Given the description of an element on the screen output the (x, y) to click on. 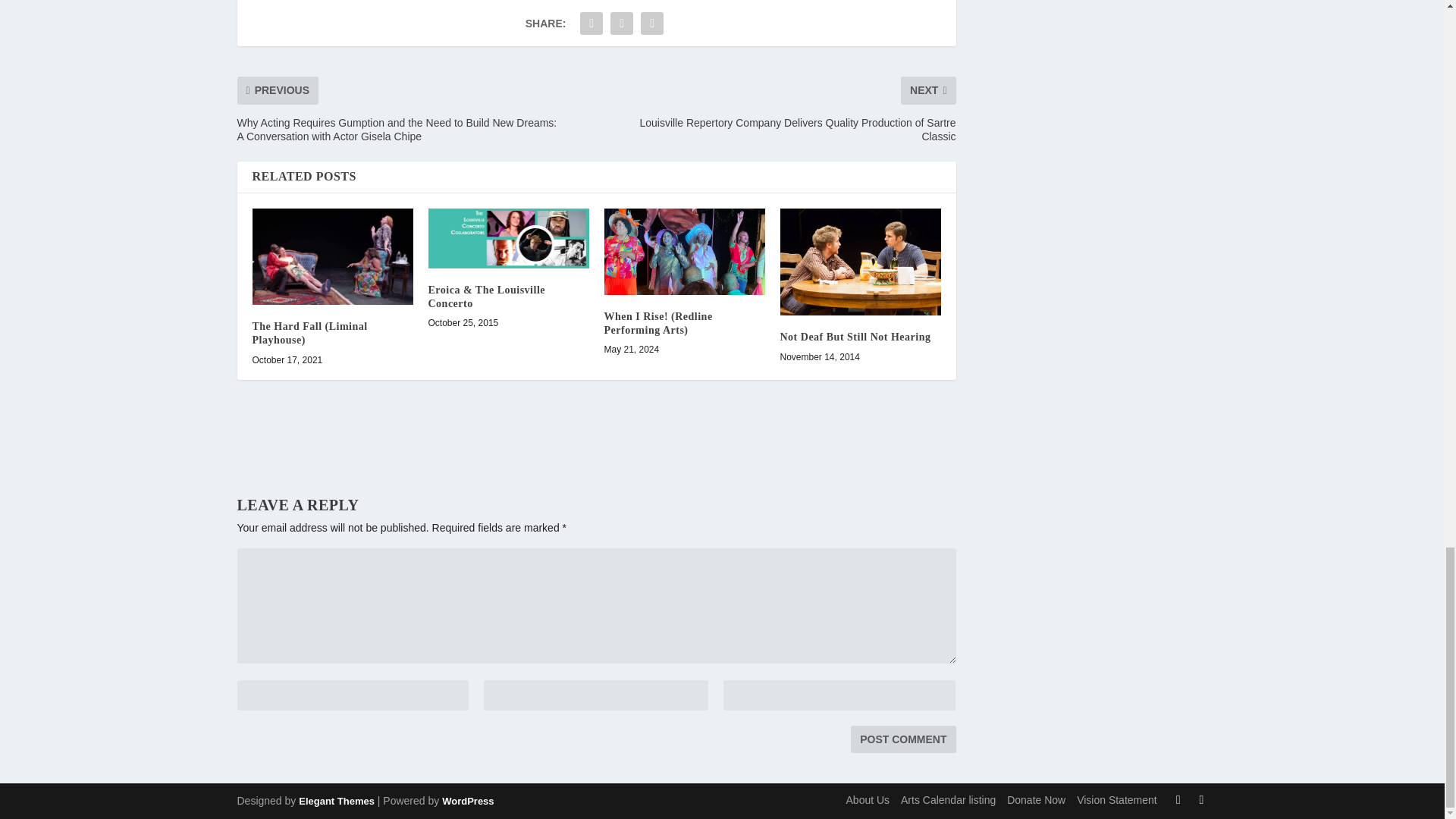
Share "SETC Comes To Louisville" via Email (651, 23)
Not Deaf But Still Not Hearing (859, 261)
Share "SETC Comes To Louisville" via Twitter (622, 23)
Share "SETC Comes To Louisville" via Facebook (591, 23)
Premium WordPress Themes (336, 800)
Post Comment (902, 738)
